Given the description of an element on the screen output the (x, y) to click on. 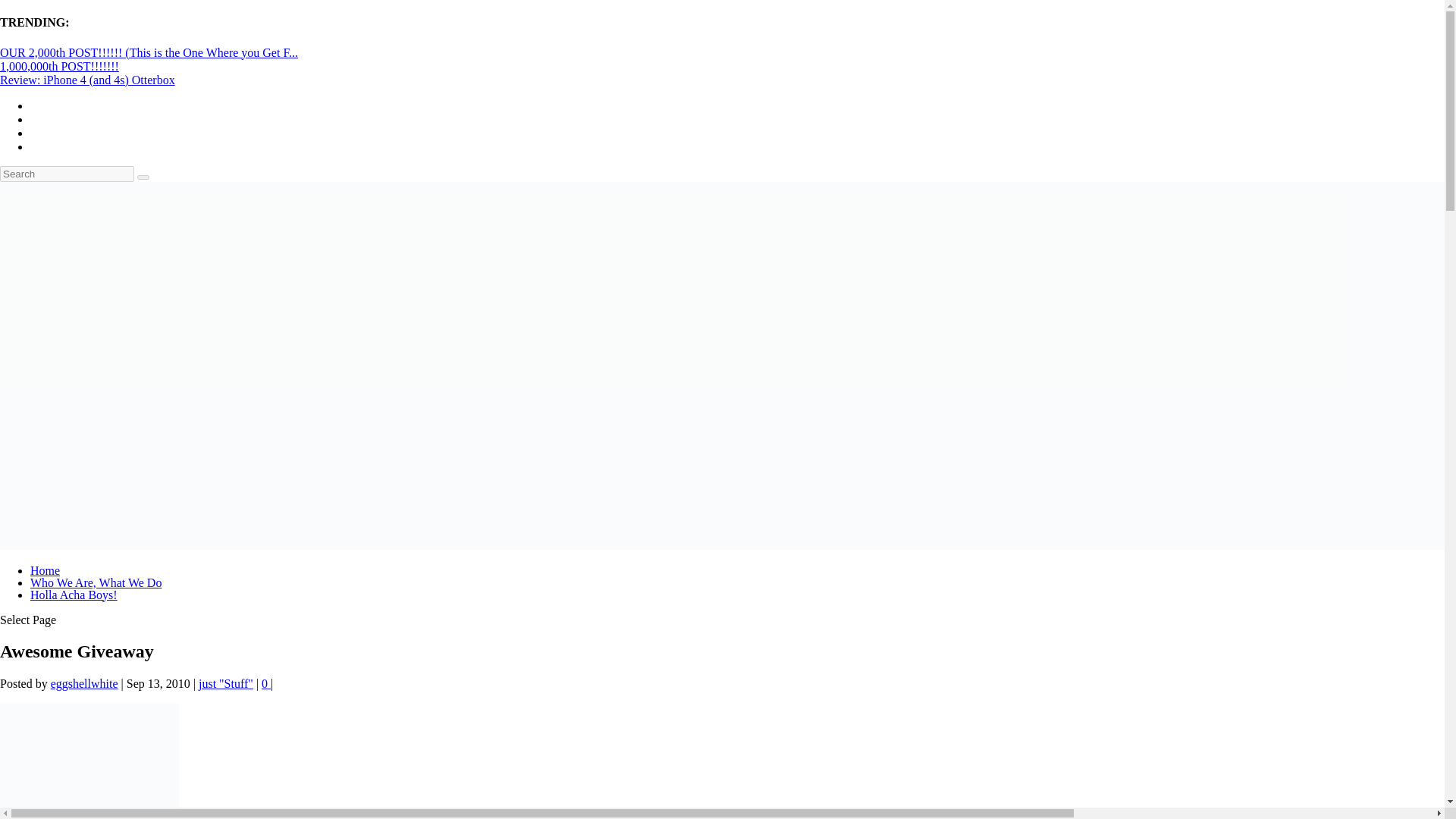
Who We Are, What We Do (95, 582)
1,000,000th POST!!!!!!! (59, 65)
just "Stuff" (225, 683)
Posts by eggshellwhite (83, 683)
Search for: (66, 173)
eggshellwhite (83, 683)
Home (44, 570)
Inspiration (89, 760)
Holla Acha Boys! (73, 594)
